Given the description of an element on the screen output the (x, y) to click on. 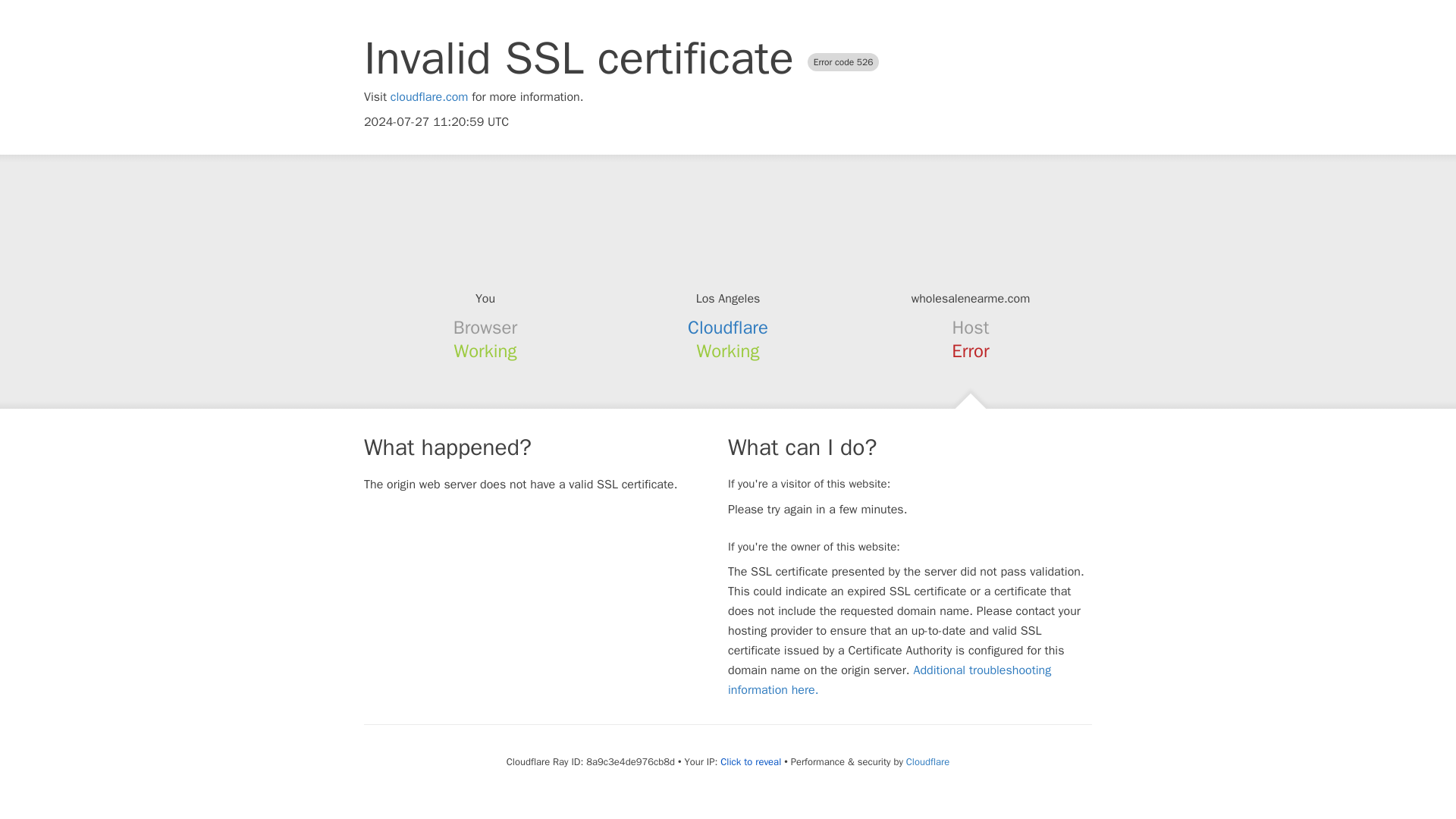
Cloudflare (927, 761)
Cloudflare (727, 327)
Additional troubleshooting information here. (889, 679)
cloudflare.com (429, 96)
Click to reveal (750, 762)
